Given the description of an element on the screen output the (x, y) to click on. 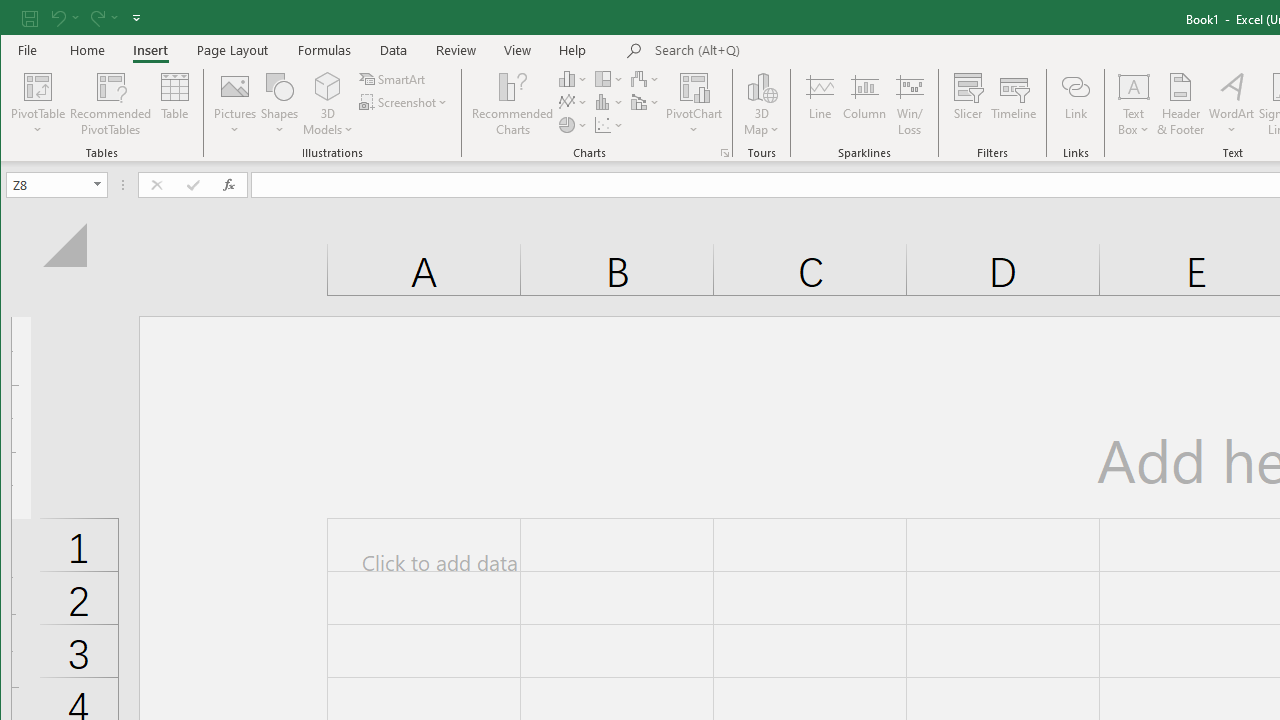
3D Map (762, 86)
Win/Loss (909, 104)
WordArt (1231, 104)
Timeline (1014, 104)
PivotTable (37, 86)
PivotChart (694, 86)
